Given the description of an element on the screen output the (x, y) to click on. 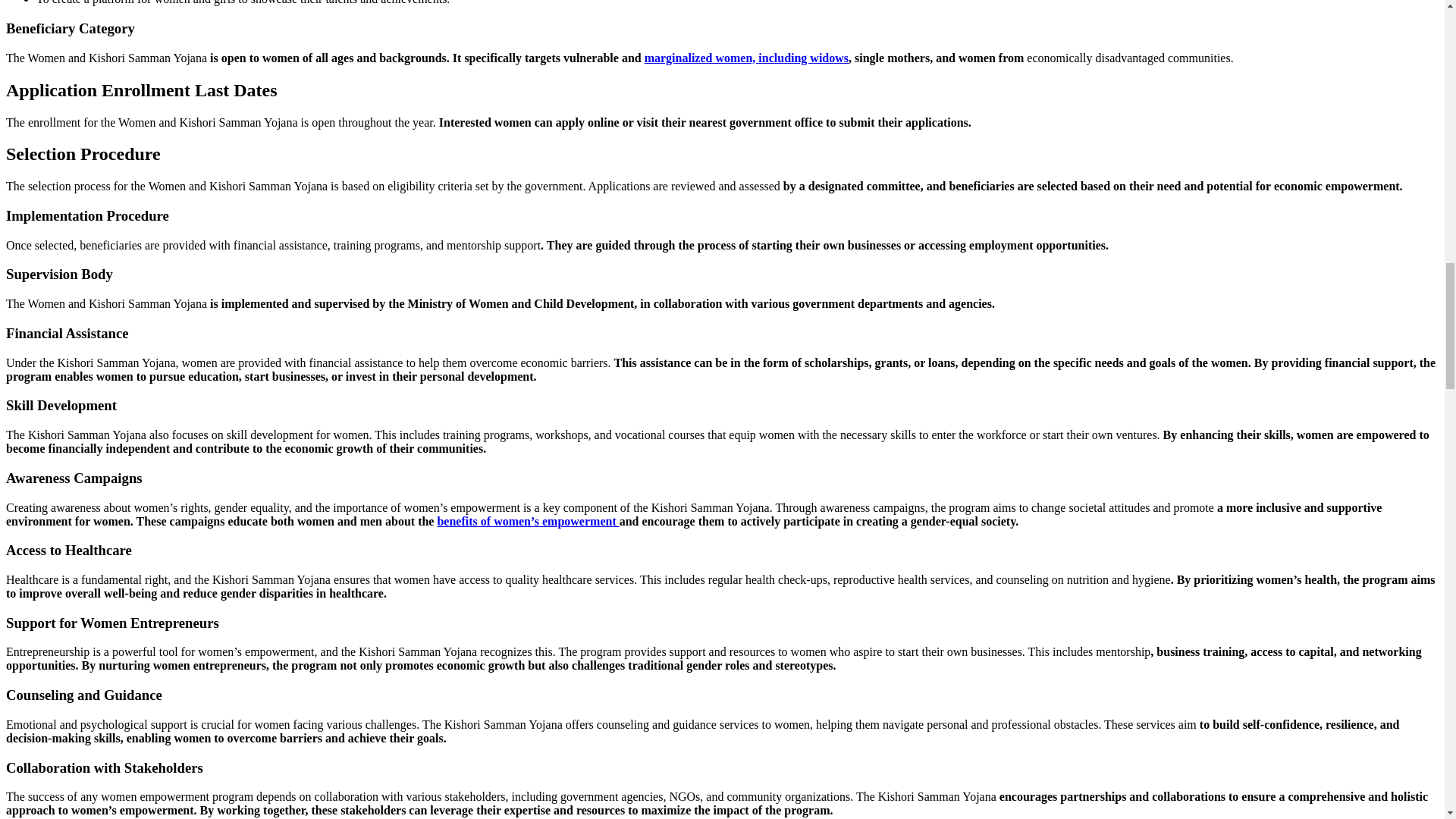
marginalized women, including widows (746, 57)
